Given the description of an element on the screen output the (x, y) to click on. 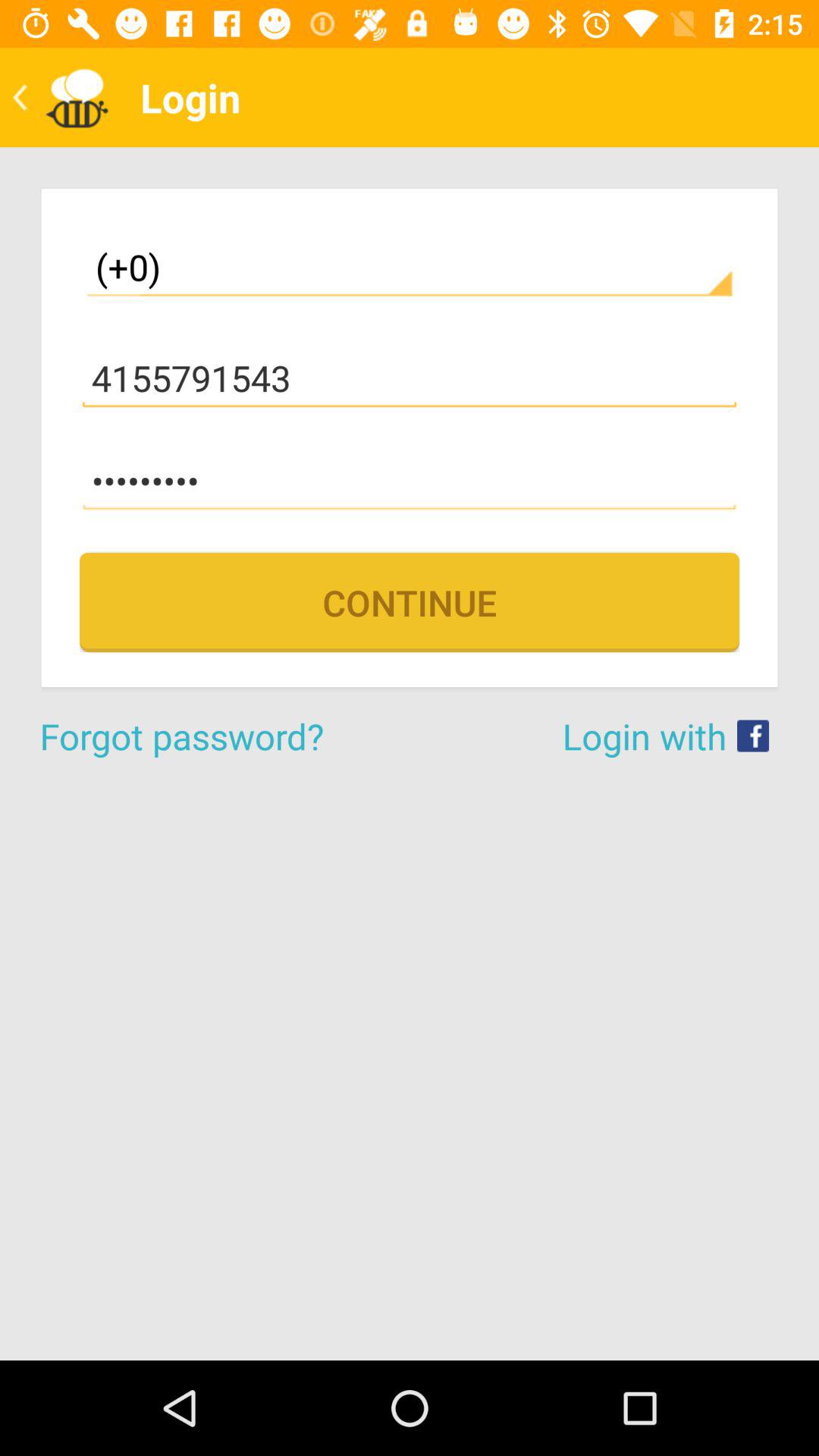
tap the forgot password? on the left (224, 736)
